Given the description of an element on the screen output the (x, y) to click on. 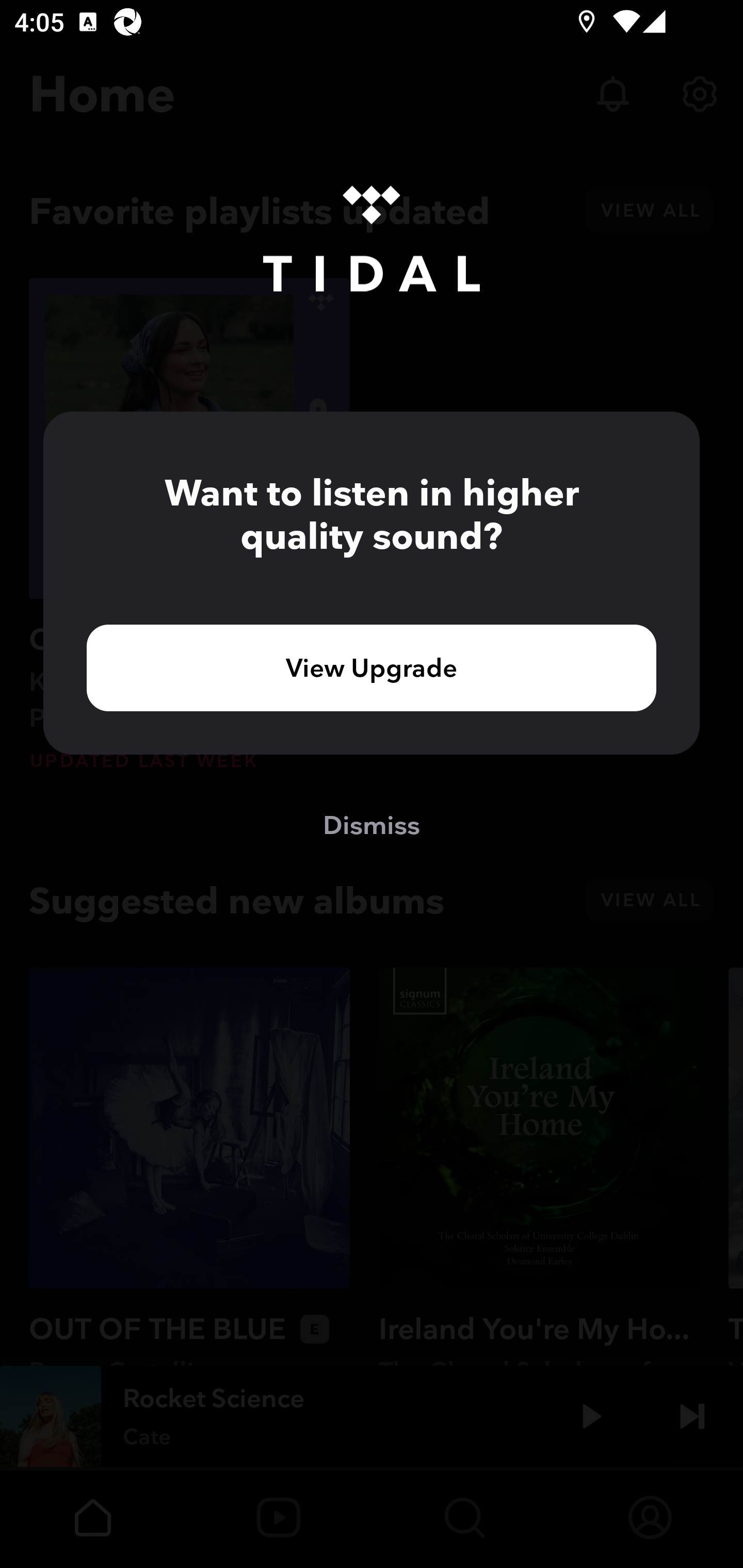
View Upgrade (371, 667)
Dismiss (371, 824)
